Given the description of an element on the screen output the (x, y) to click on. 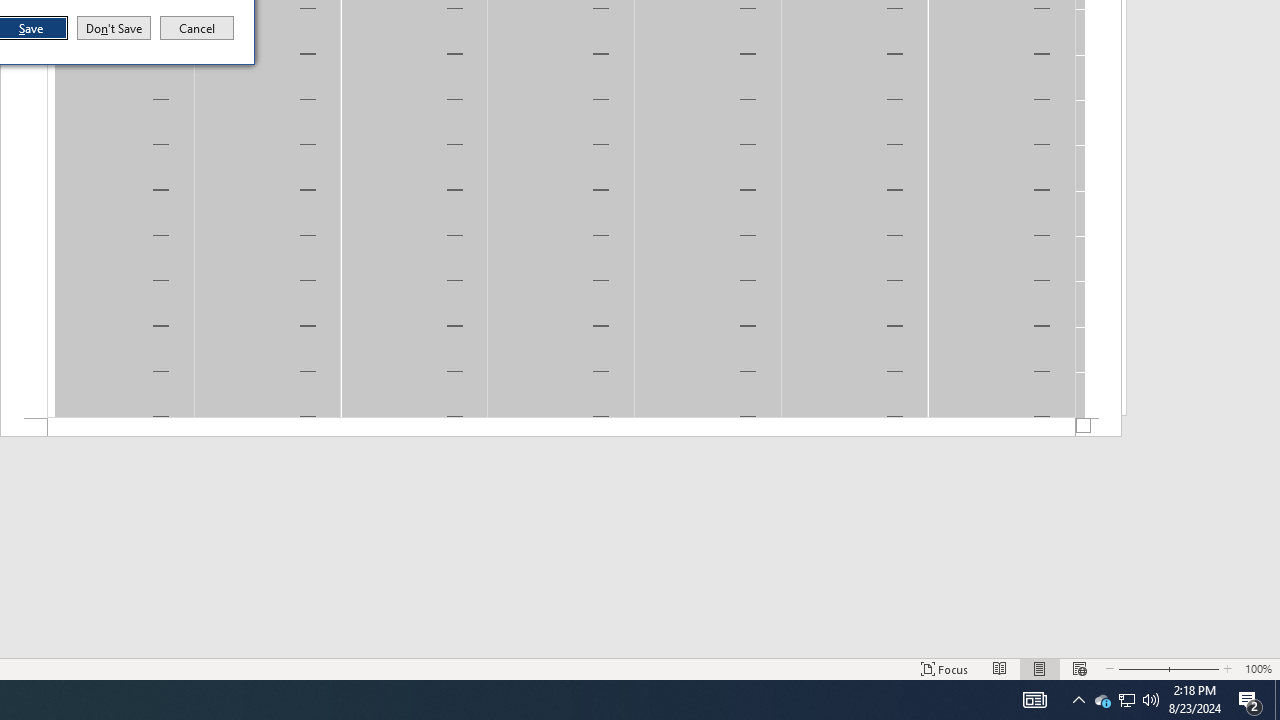
Q2790: 100% (1102, 699)
Don't Save (1151, 699)
